Given the description of an element on the screen output the (x, y) to click on. 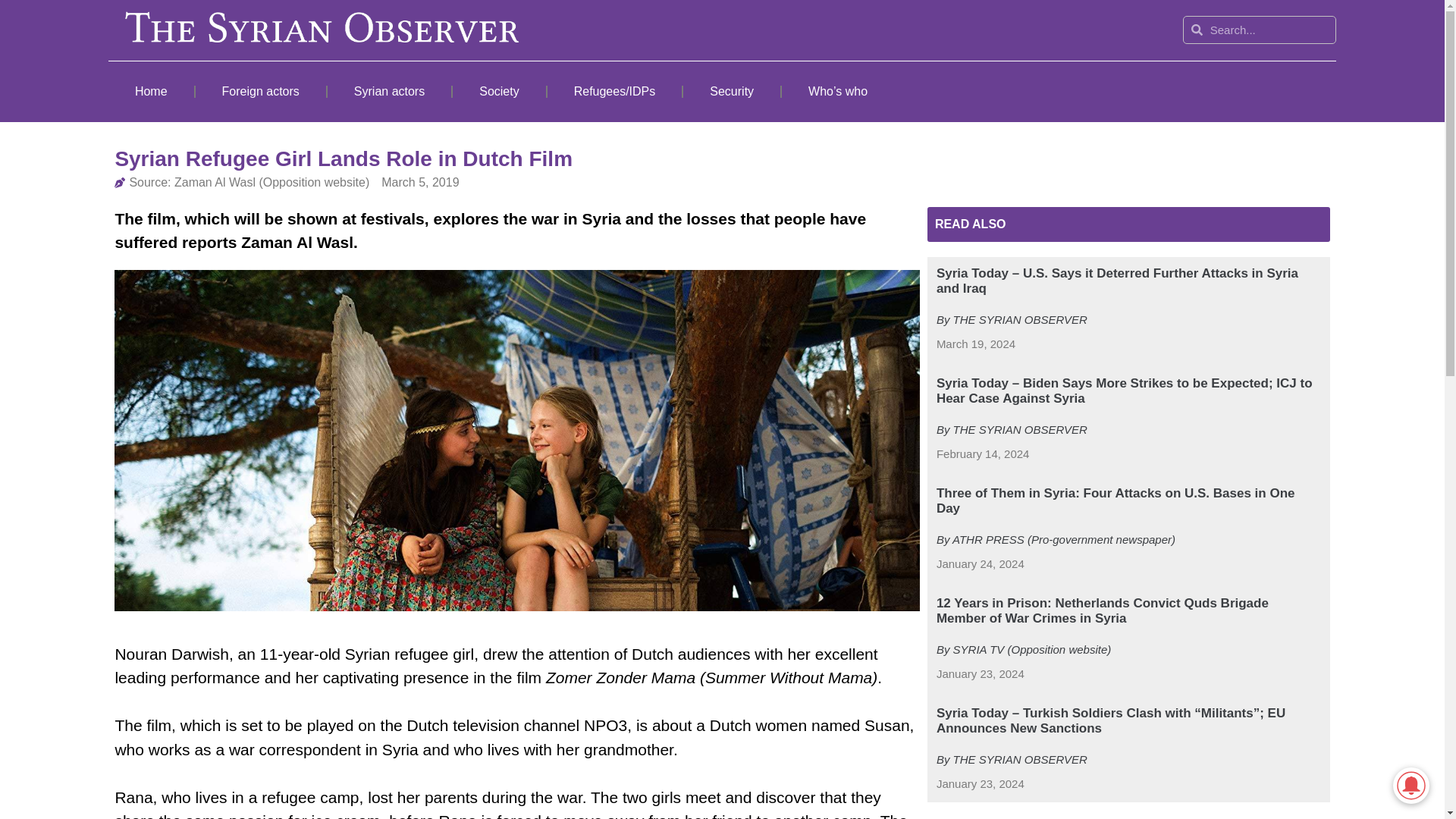
Security (731, 91)
Society (498, 91)
Home (150, 91)
March 19, 2024 (975, 343)
Foreign actors (260, 91)
February 14, 2024 (982, 454)
January 23, 2024 (980, 784)
Syrian actors (389, 91)
January 24, 2024 (980, 564)
January 23, 2024 (980, 674)
